Given the description of an element on the screen output the (x, y) to click on. 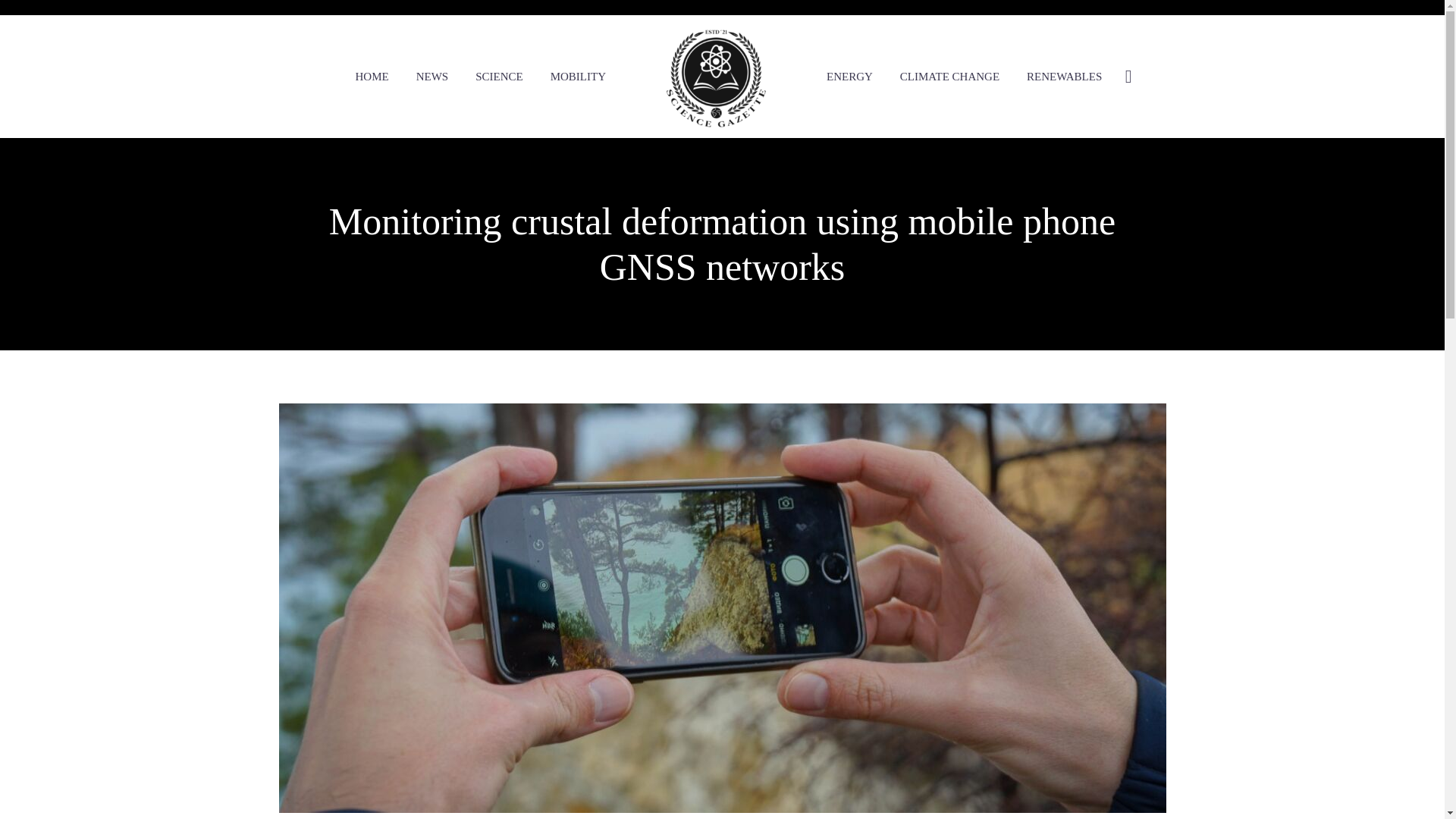
NEWS (432, 75)
s (1281, 157)
MOBILITY (577, 75)
HOME (371, 75)
RENEWABLES (1063, 75)
SCIENCE (499, 75)
CLIMATE CHANGE (949, 75)
ENERGY (849, 75)
